Given the description of an element on the screen output the (x, y) to click on. 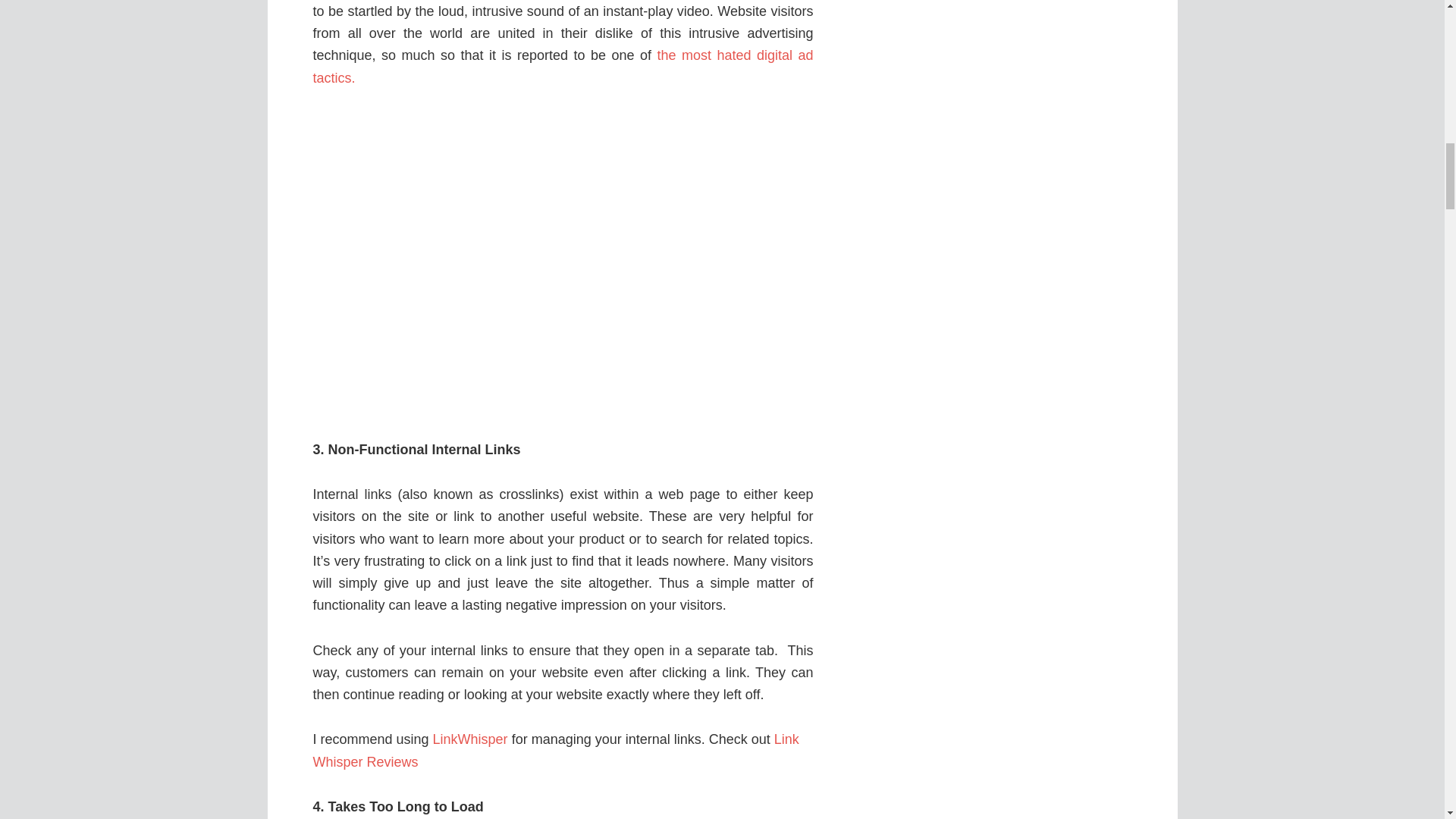
LinkWhisper (470, 739)
the most hated digital ad tactics. (562, 66)
17 Things That Drive Us Crazy About Your Website 2 (562, 264)
Link Whisper Reviews (555, 750)
